Given the description of an element on the screen output the (x, y) to click on. 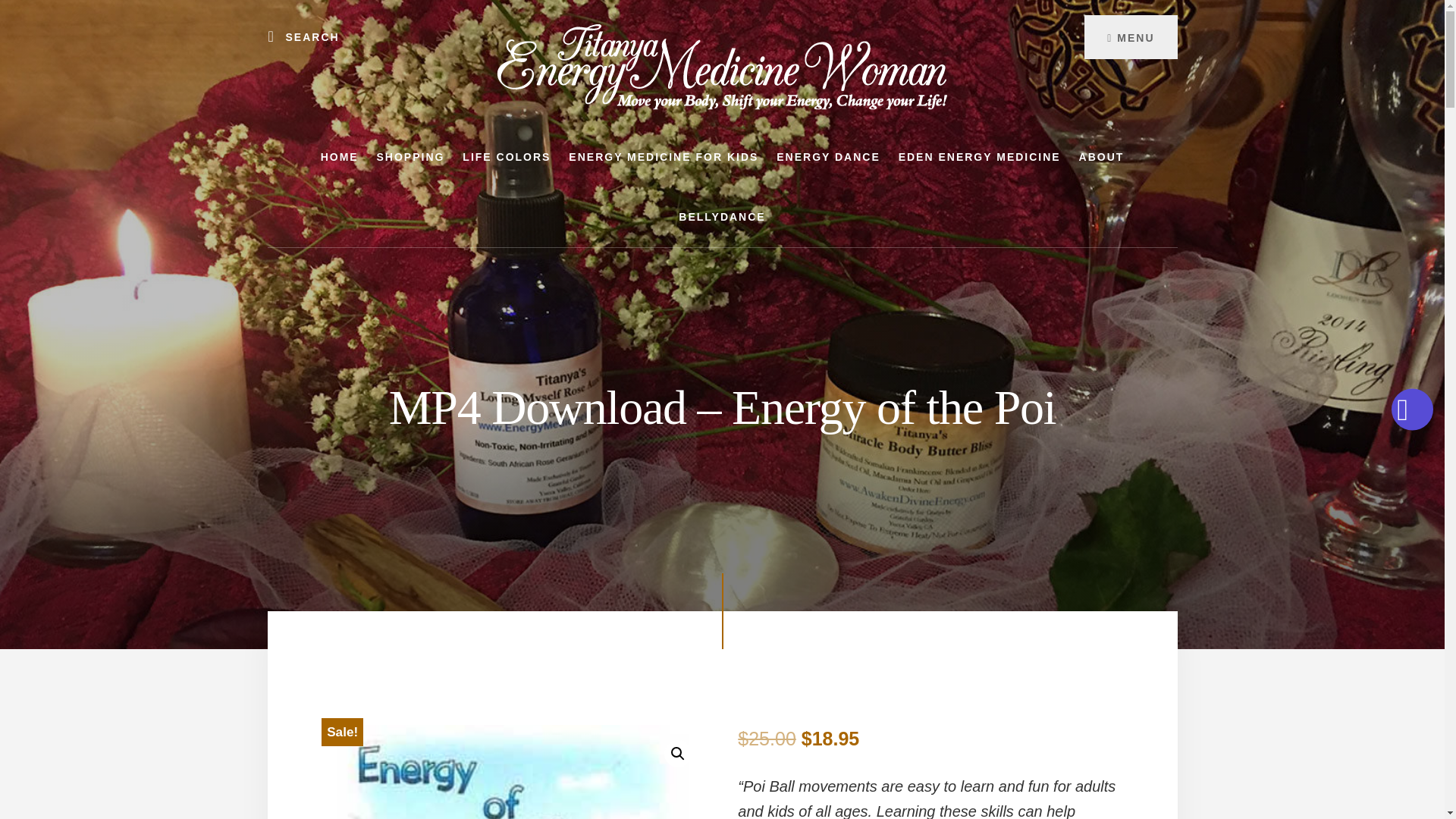
Poi-Dance-mp4 (516, 771)
MENU (1130, 36)
ABOUT (1101, 157)
EDEN ENERGY MEDICINE (979, 157)
LIFE COLORS (505, 157)
ENERGY DANCE (828, 157)
